Given the description of an element on the screen output the (x, y) to click on. 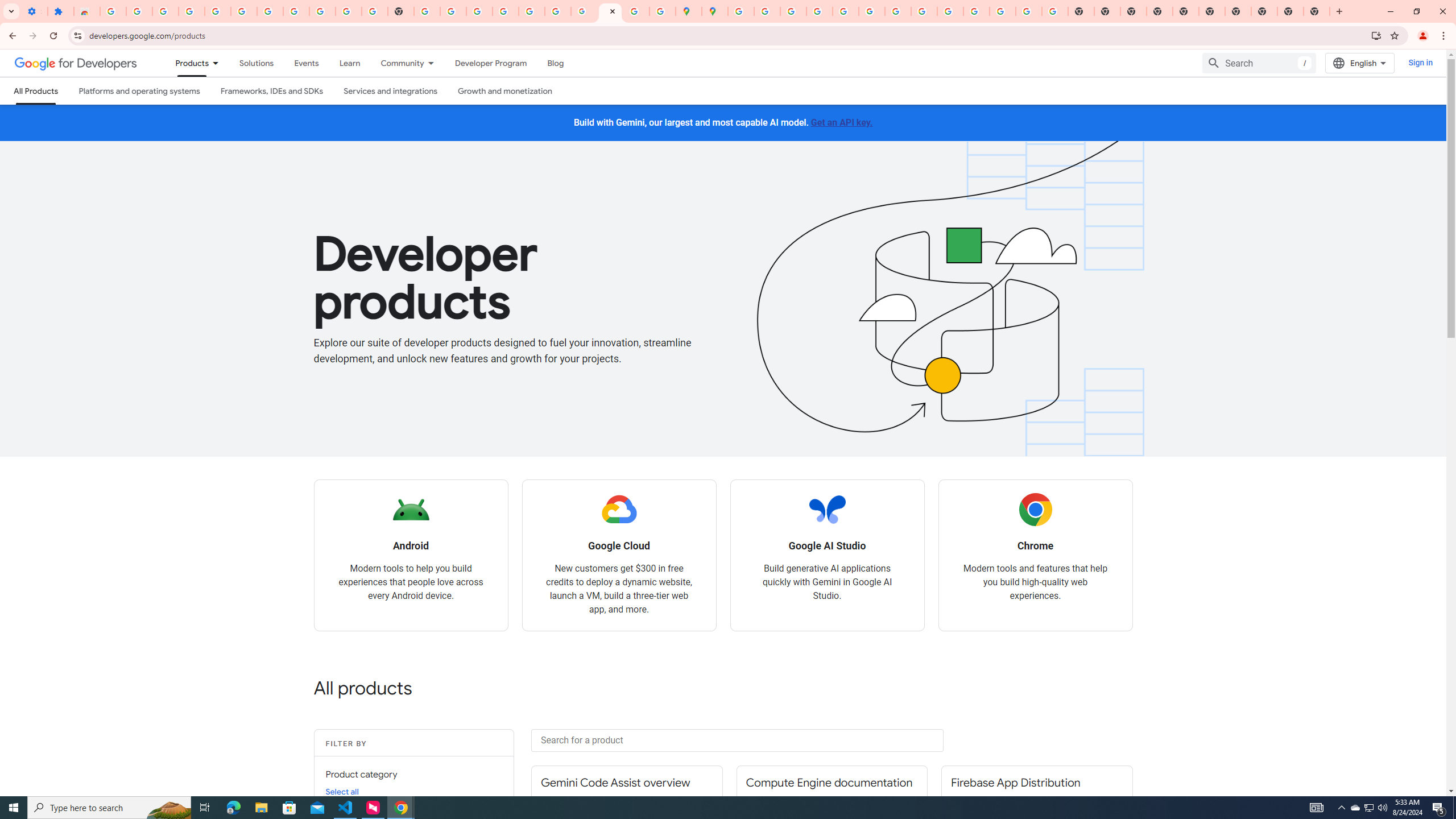
New Tab (1316, 11)
Google Account (322, 11)
products hero img (930, 298)
Google Cloud logo (618, 509)
Platforms and operating systems (139, 90)
YouTube (348, 11)
Developer products - Google for Developers (610, 11)
Sign in - Google Accounts (740, 11)
Select all (342, 790)
